Given the description of an element on the screen output the (x, y) to click on. 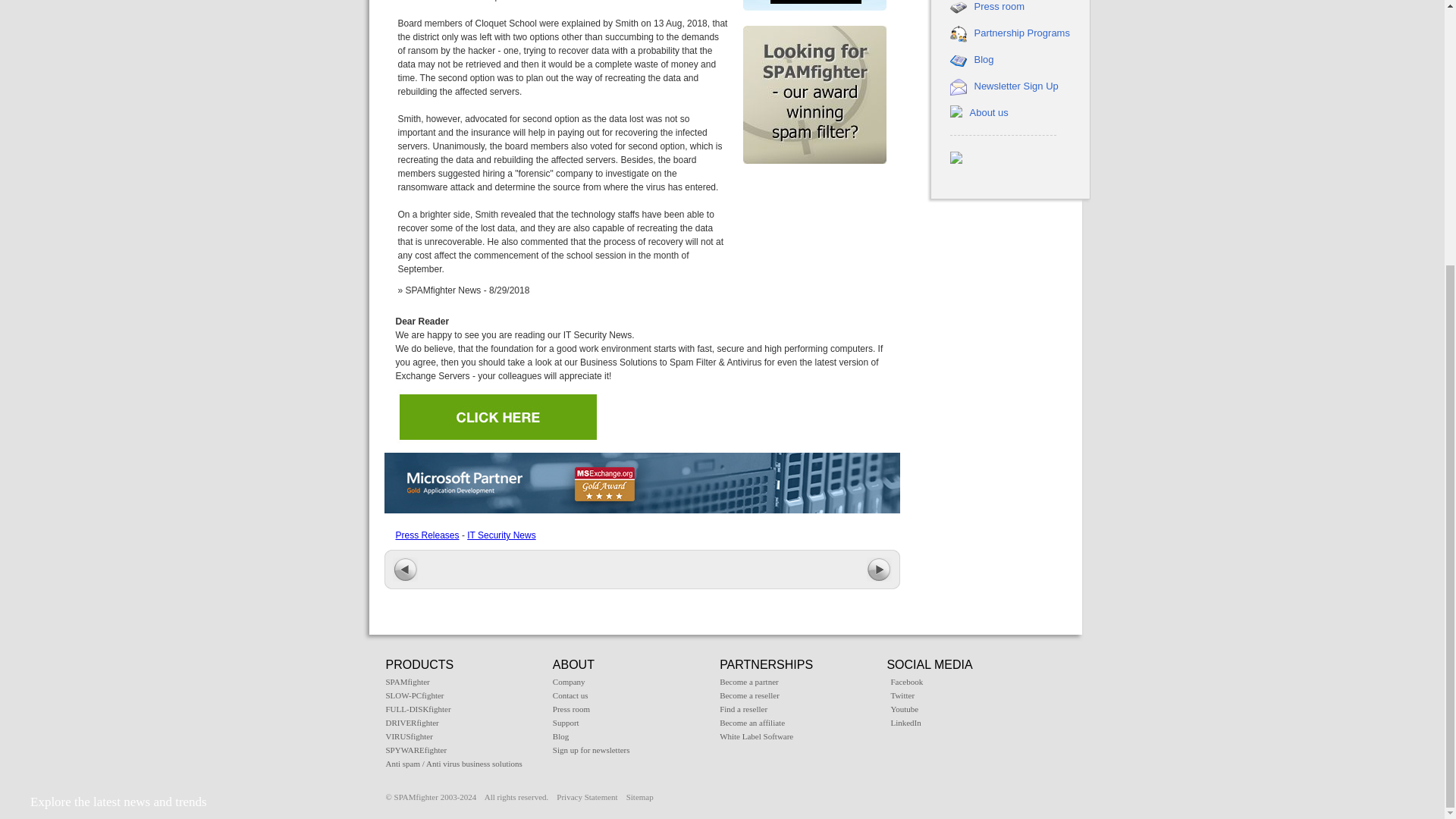
Blog (983, 59)
Newsletter Sign Up (1016, 85)
SPAMfighter (407, 681)
About us (988, 112)
Partnership Programs (1021, 32)
Send (160, 568)
SLOW-PCfighter (414, 695)
IT Security News (501, 534)
Press Releases (428, 534)
Press room (998, 6)
